Given the description of an element on the screen output the (x, y) to click on. 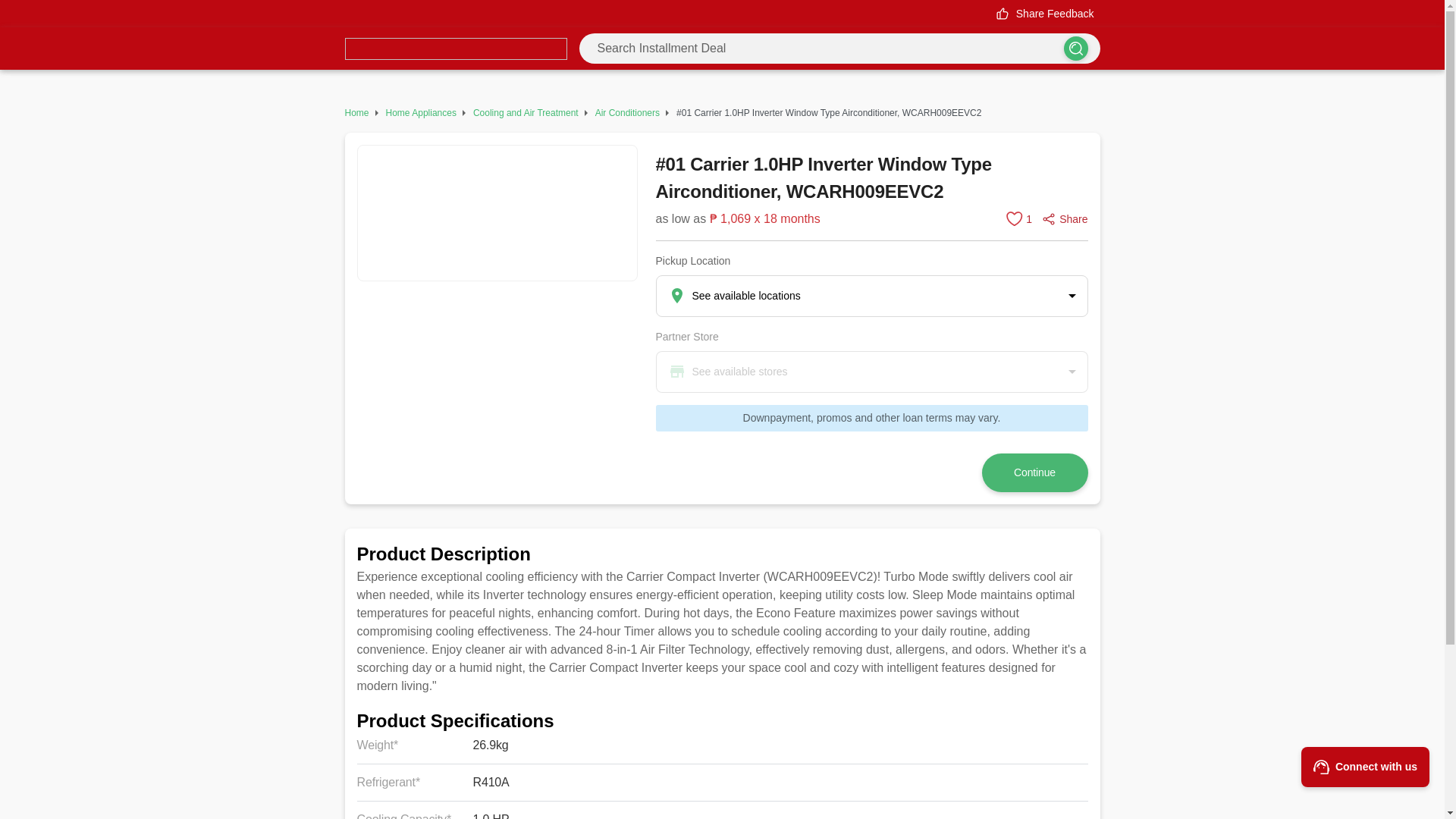
Home Appliances (421, 112)
Share (1064, 218)
Air Conditioners (627, 112)
Cooling and Air Treatment (525, 112)
Home (355, 112)
Share Feedback (1044, 13)
